Given the description of an element on the screen output the (x, y) to click on. 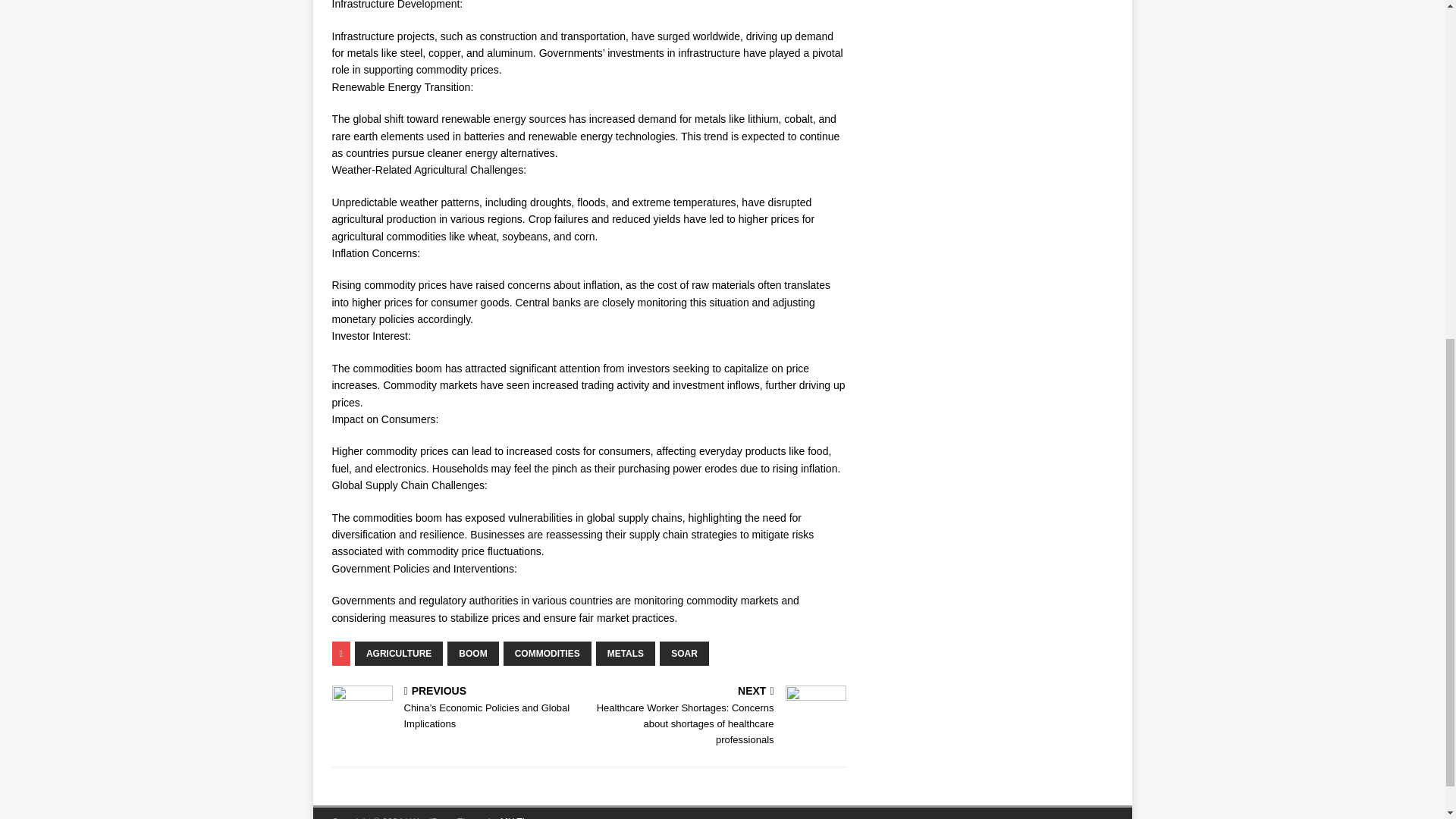
BOOM (471, 653)
METALS (625, 653)
SOAR (684, 653)
AGRICULTURE (398, 653)
COMMODITIES (547, 653)
